Given the description of an element on the screen output the (x, y) to click on. 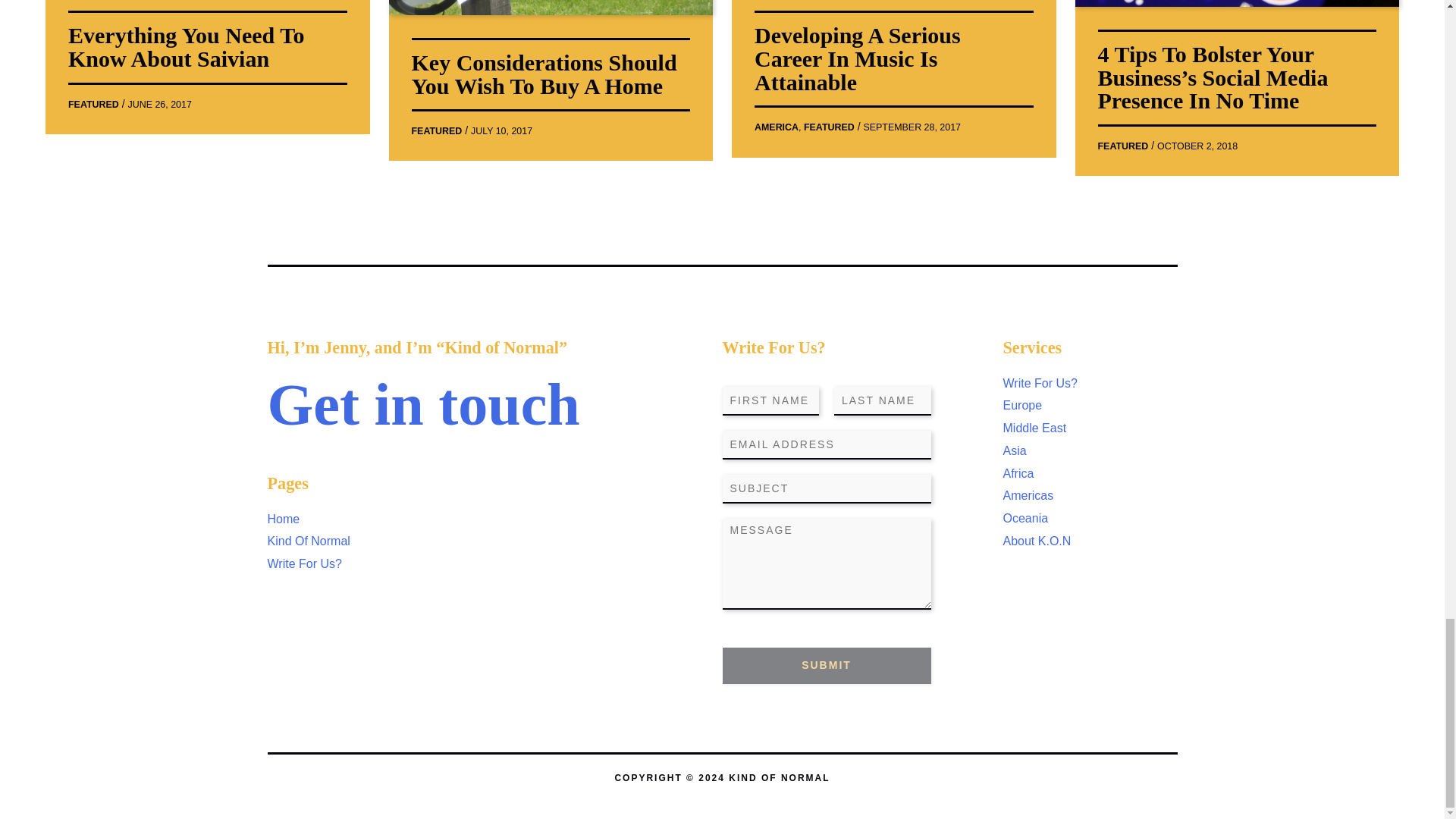
Developing A Serious Career In Music Is Attainable (857, 58)
Kind Of Normal (307, 540)
Home (282, 518)
FEATURED (435, 131)
Everything You Need To Know About Saivian (186, 46)
FEATURED (93, 104)
SUBMIT (826, 665)
FEATURED (1122, 145)
AMERICA (775, 127)
FEATURED (828, 127)
Get in touch (422, 404)
Write For Us? (303, 563)
Key Considerations Should You Wish To Buy A Home (543, 73)
